Given the description of an element on the screen output the (x, y) to click on. 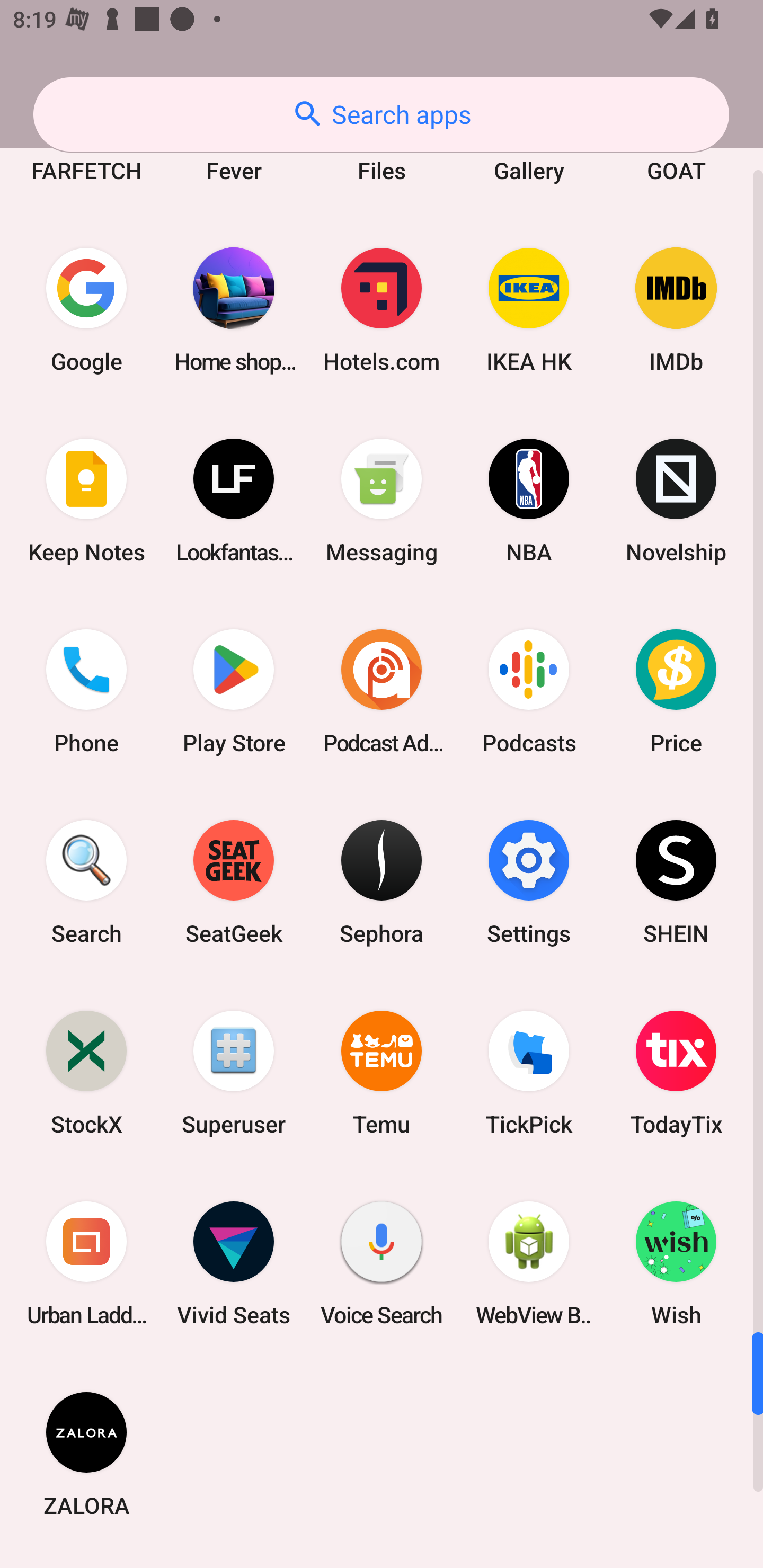
  Search apps (381, 114)
Google (86, 309)
Home shopping (233, 309)
Hotels.com (381, 309)
IKEA HK (528, 309)
IMDb (676, 309)
Keep Notes (86, 499)
Lookfantastic (233, 499)
Messaging (381, 499)
NBA (528, 499)
Novelship (676, 499)
Phone (86, 691)
Play Store (233, 691)
Podcast Addict (381, 691)
Podcasts (528, 691)
Price (676, 691)
Search (86, 881)
SeatGeek (233, 881)
Sephora (381, 881)
Settings (528, 881)
SHEIN (676, 881)
StockX (86, 1072)
Superuser (233, 1072)
Temu (381, 1072)
TickPick (528, 1072)
TodayTix (676, 1072)
Urban Ladder (86, 1263)
Vivid Seats (233, 1263)
Voice Search (381, 1263)
WebView Browser Tester (528, 1263)
Wish (676, 1263)
ZALORA (86, 1454)
